Given the description of an element on the screen output the (x, y) to click on. 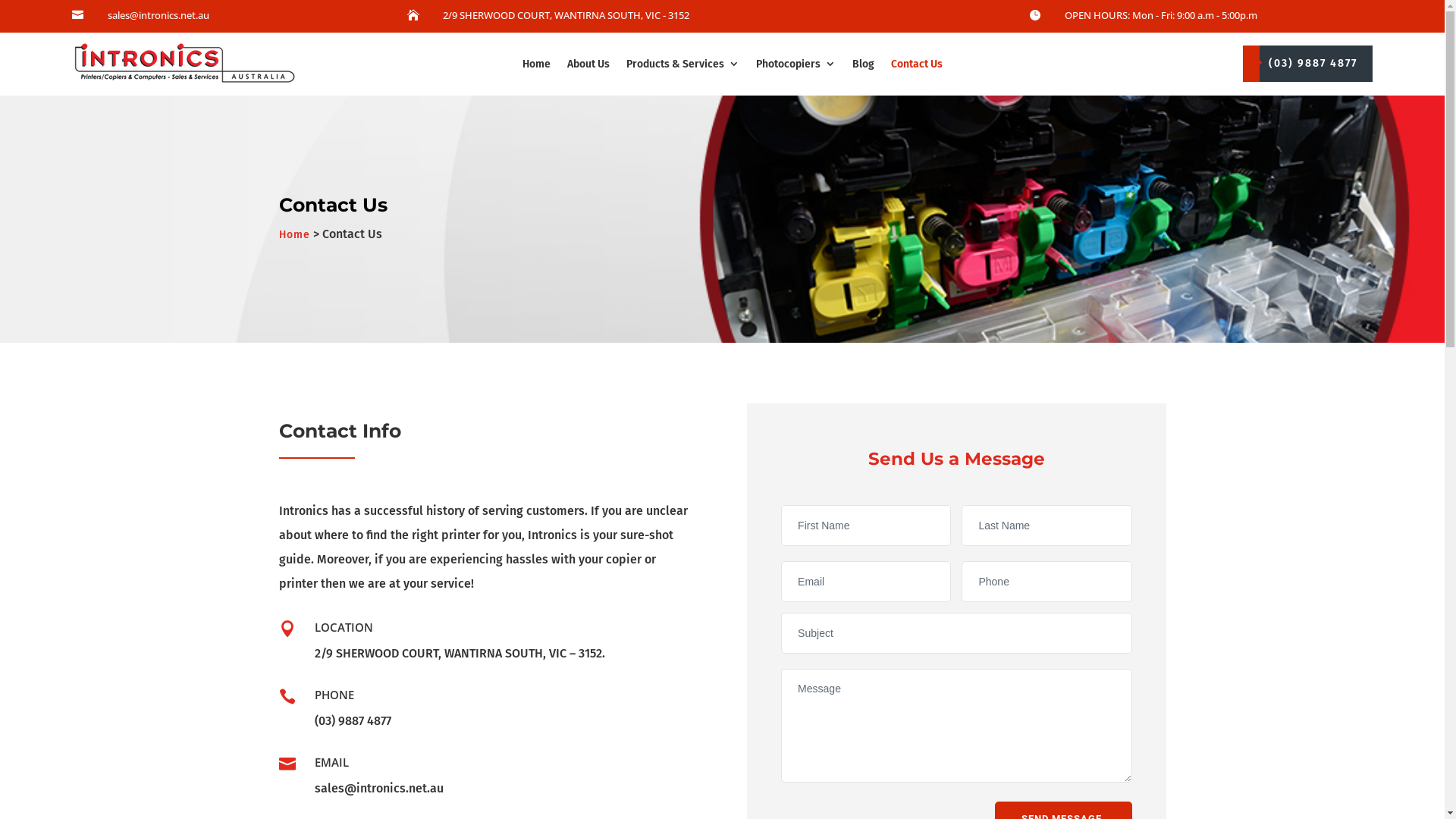
Contact Us Element type: text (916, 63)
About Us Element type: text (588, 63)
Only numbers allowed. Element type: hover (1046, 581)
(03) 9887 4877 Element type: text (1307, 63)
Blog Element type: text (863, 63)
Photocopiers Element type: text (795, 63)
Home Element type: text (294, 234)
Home Element type: text (536, 63)
Products & Services Element type: text (682, 63)
LOCATION Element type: text (343, 626)
